Given the description of an element on the screen output the (x, y) to click on. 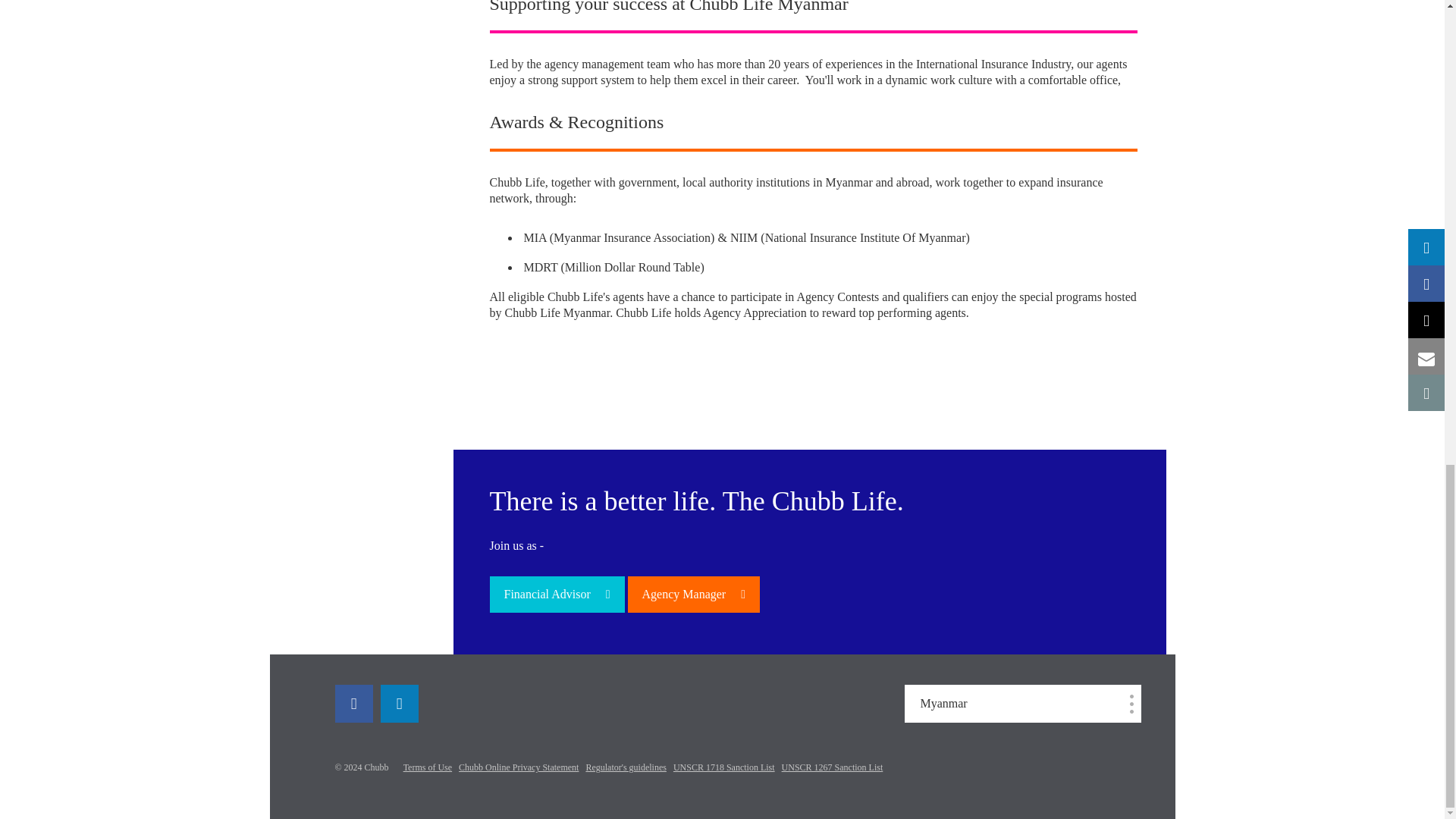
Financial Advisor (556, 594)
Agency Manager (693, 594)
Myanmar (1022, 703)
